Given the description of an element on the screen output the (x, y) to click on. 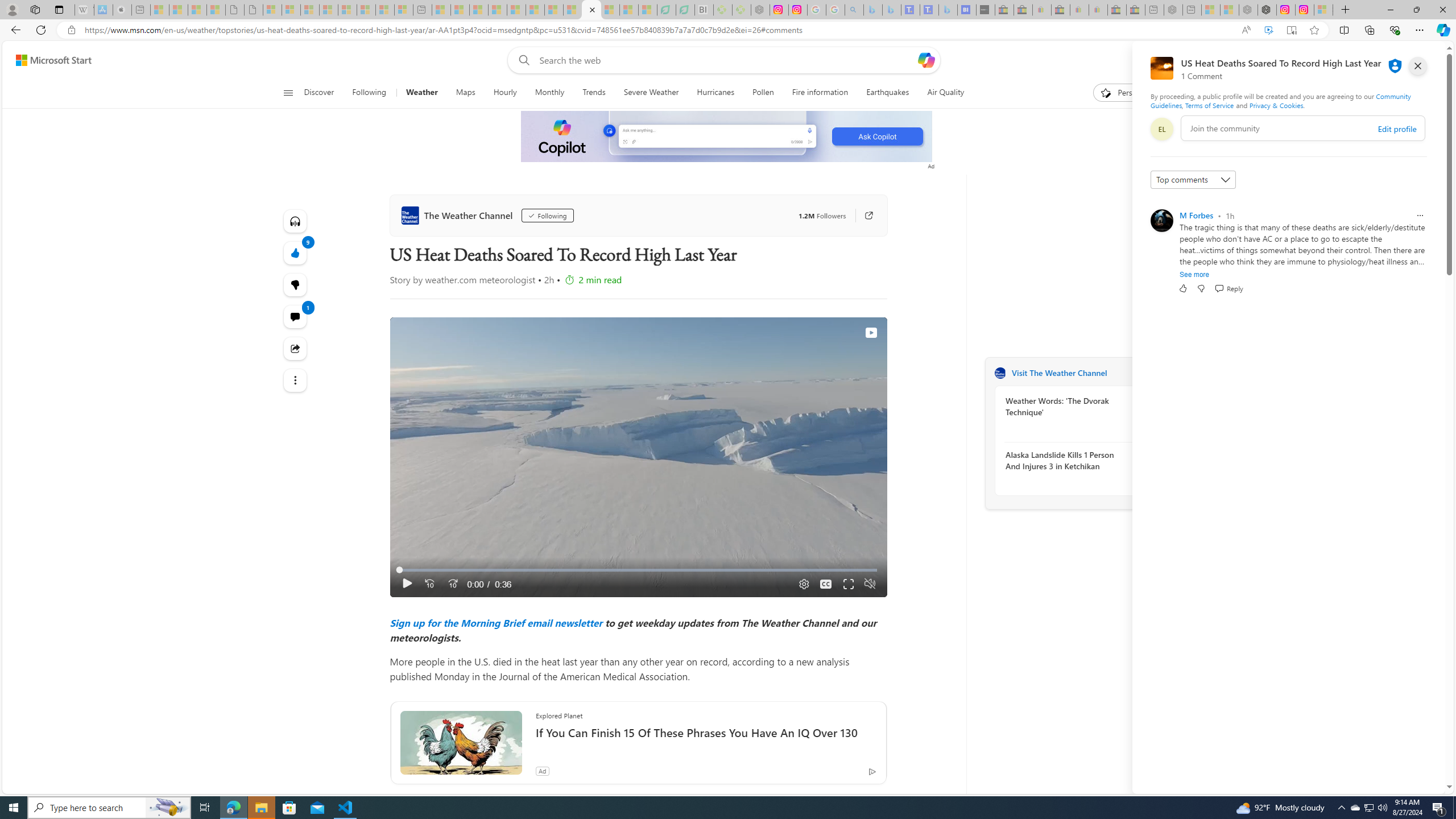
Air Quality (945, 92)
Severe Weather (650, 92)
Enhance video (1268, 29)
Share this story (295, 348)
Food and Drink - MSN - Sleeping (497, 9)
